Given the description of an element on the screen output the (x, y) to click on. 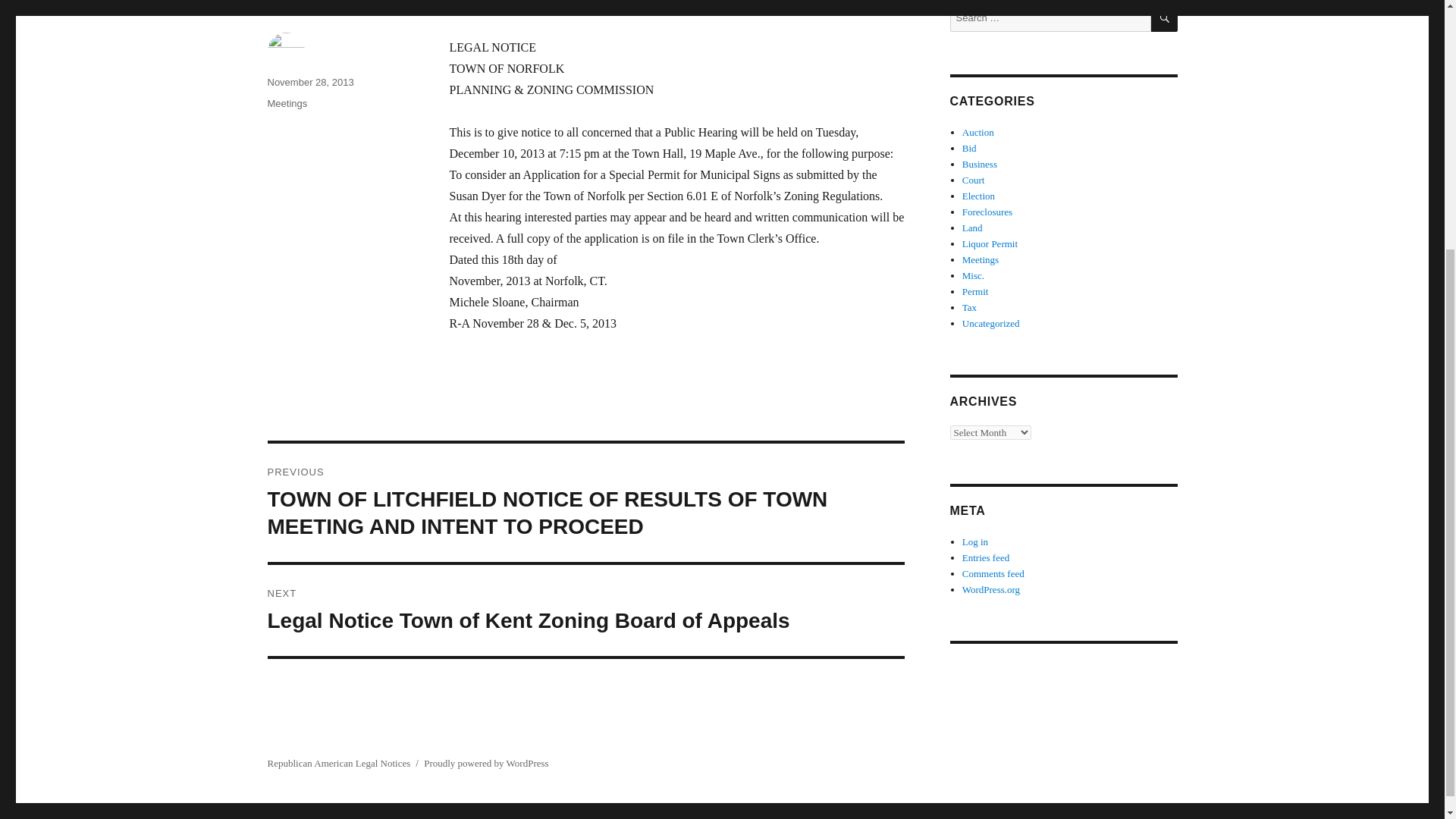
Republican American Legal Notices (338, 762)
Court (973, 179)
Proudly powered by WordPress (485, 762)
Auction (978, 132)
Uncategorized (991, 323)
Entries feed (985, 557)
Meetings (286, 102)
November 28, 2013 (309, 81)
Meetings (980, 259)
